Given the description of an element on the screen output the (x, y) to click on. 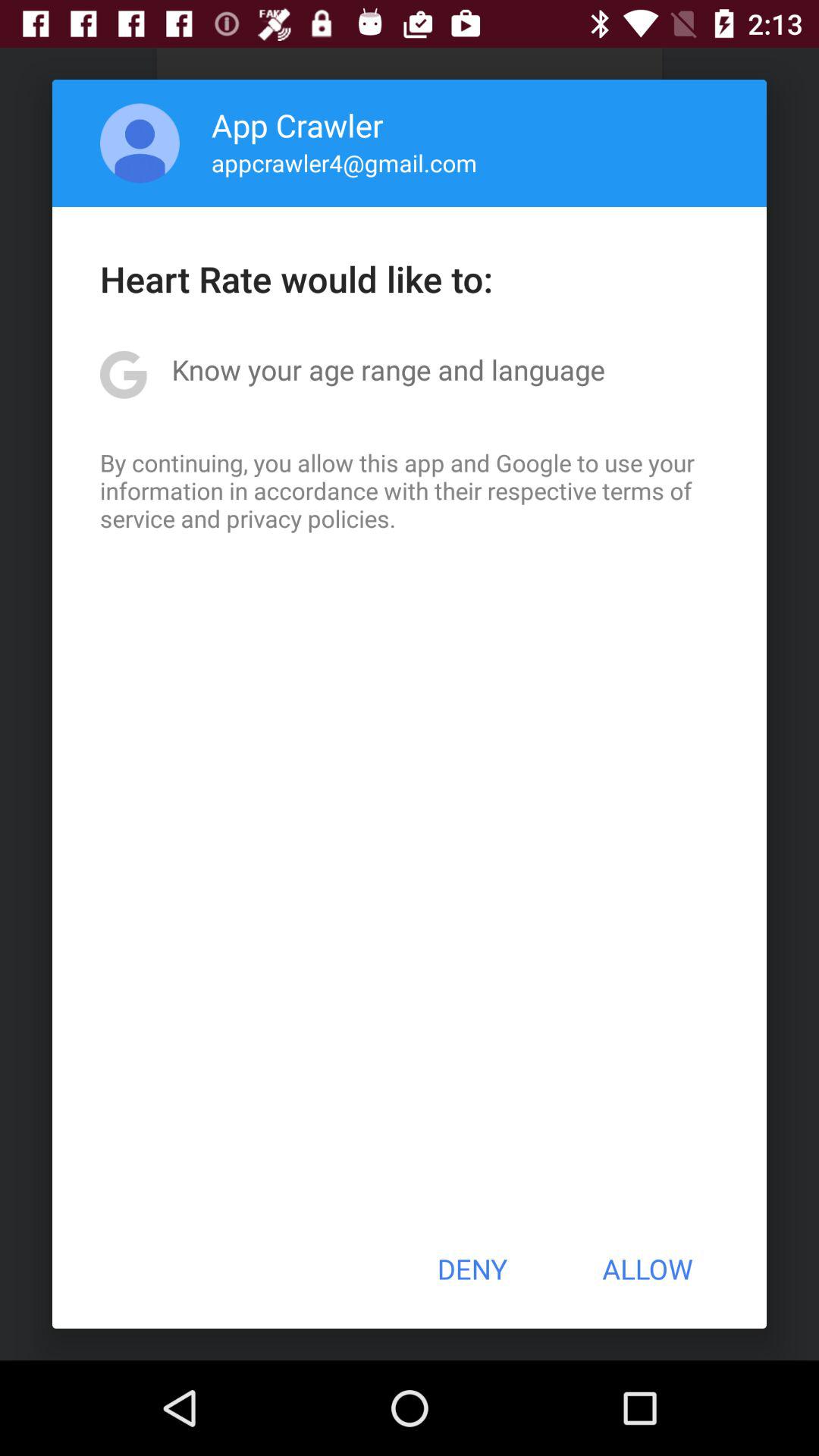
choose item below the heart rate would (388, 369)
